Given the description of an element on the screen output the (x, y) to click on. 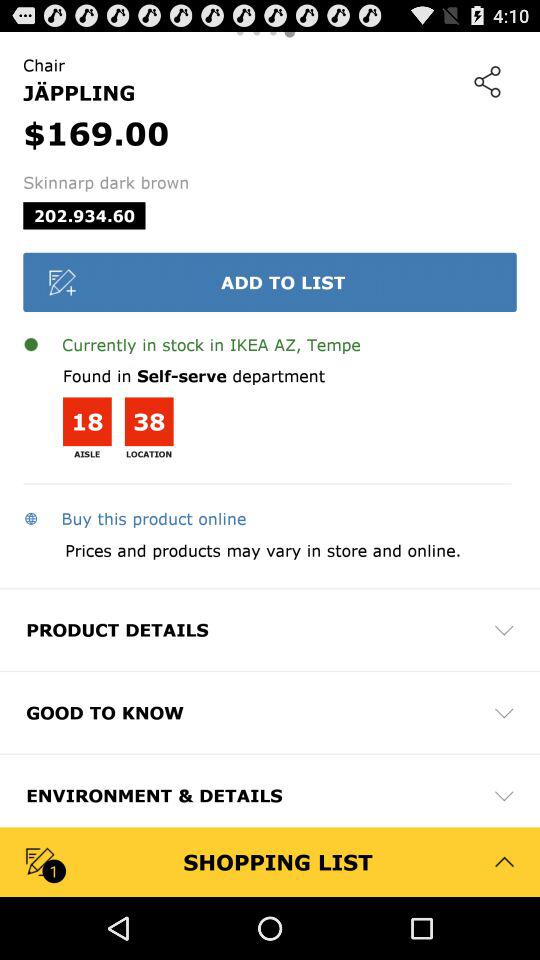
click the button on the right next to the button product details on the web page (503, 629)
click on the dropdown option  right to good to know (503, 711)
click on the button which is next to the shopping list (503, 861)
click on the last drop box button from the right top of the page (503, 795)
